Given the description of an element on the screen output the (x, y) to click on. 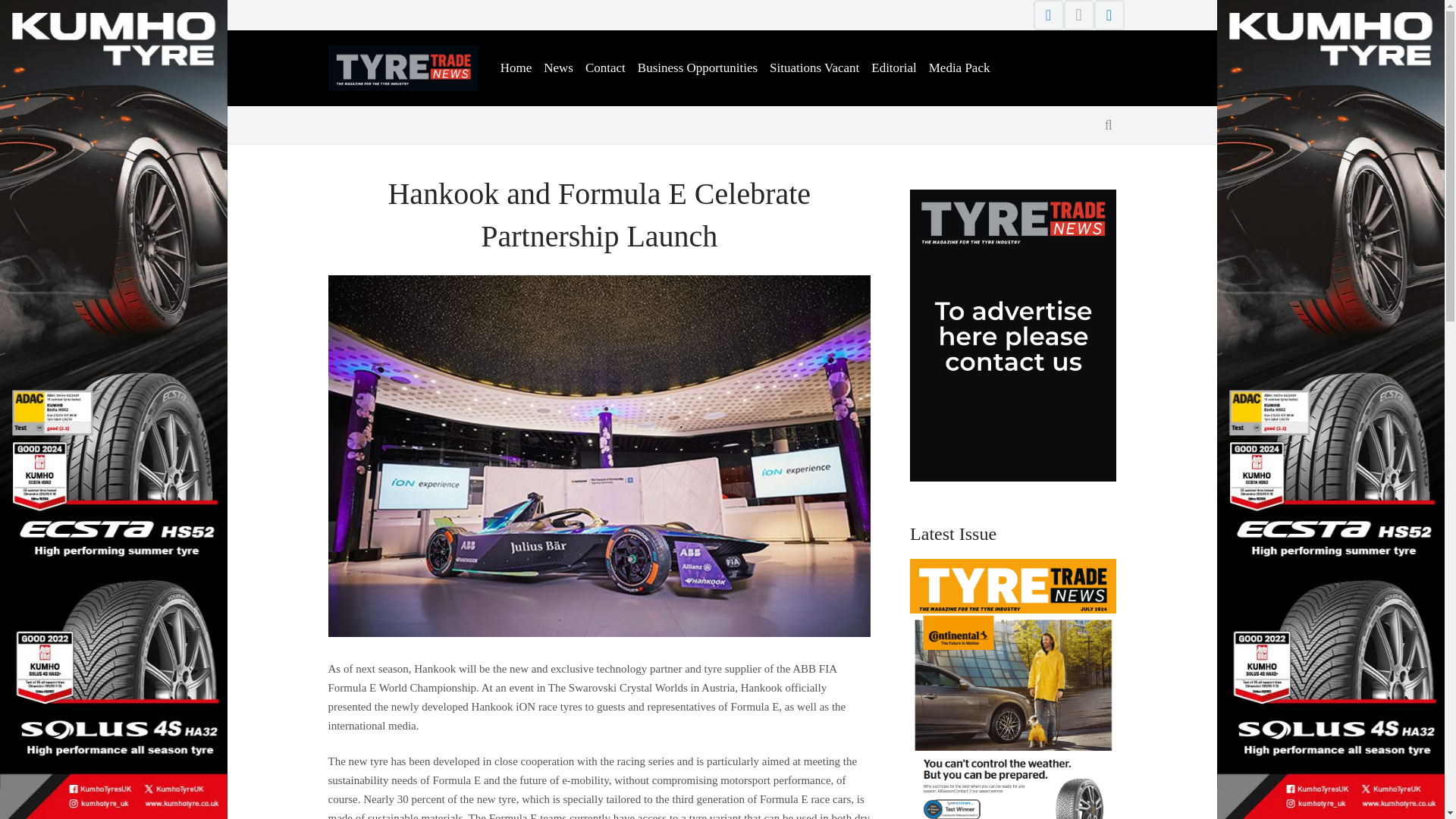
Media Pack (959, 68)
Business Opportunities (696, 68)
Situations Vacant (813, 68)
LinkedIn (1108, 15)
Facebook (1047, 15)
Instagram (1077, 15)
